Given the description of an element on the screen output the (x, y) to click on. 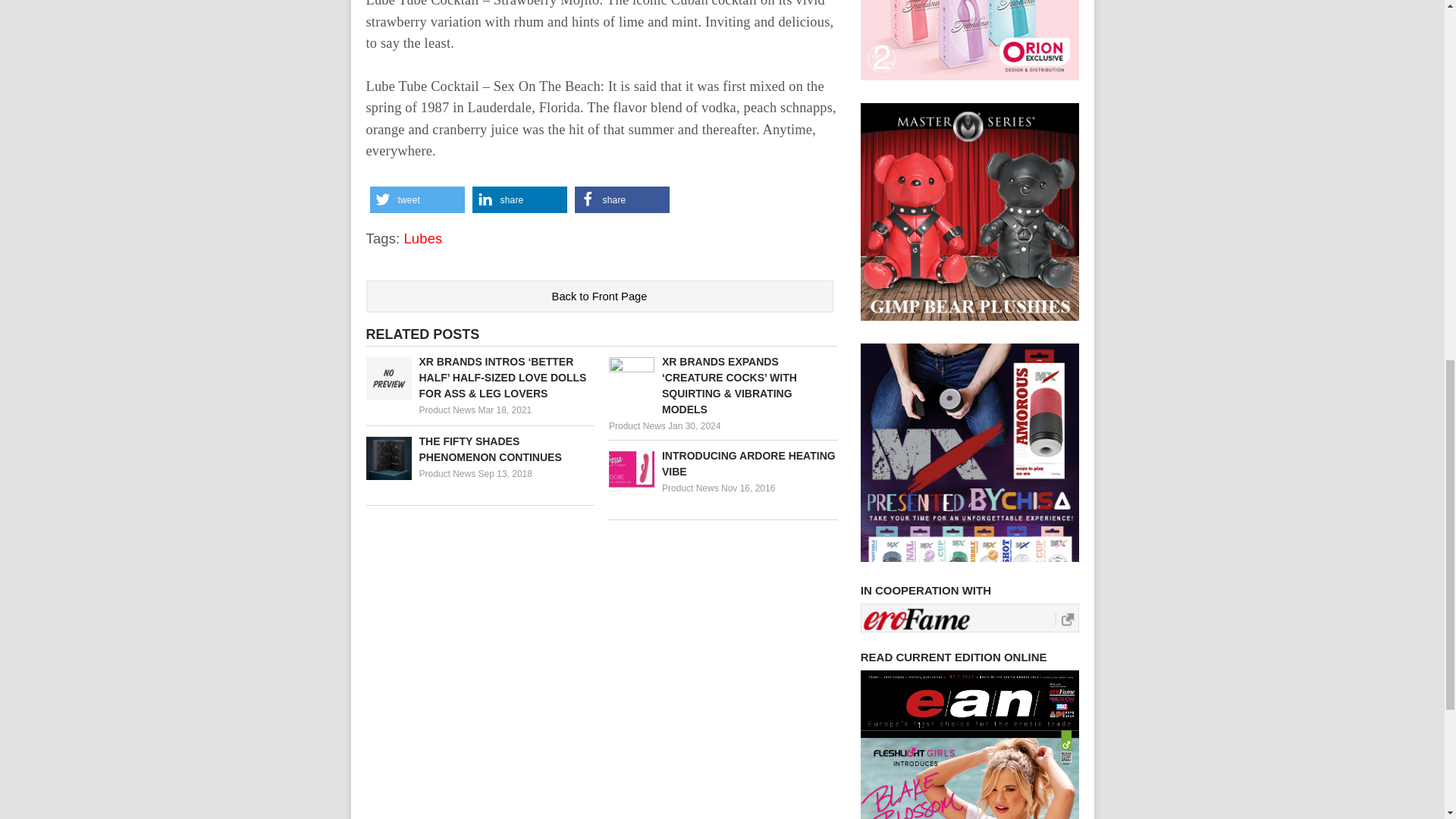
Product News (447, 473)
Share on LinkedIn (518, 199)
INTRODUCING ARDORE HEATING VIBE (723, 463)
Product News (636, 425)
Lubes (422, 238)
THE FIFTY SHADES PHENOMENON CONTINUES (479, 450)
Share on Facebook (622, 199)
Introducing Ardore heating vibe (723, 463)
tweet  (416, 199)
Product News (690, 488)
share  (518, 199)
Product News (447, 409)
Back to Front Page (599, 296)
Share on Twitter (416, 199)
share  (622, 199)
